Given the description of an element on the screen output the (x, y) to click on. 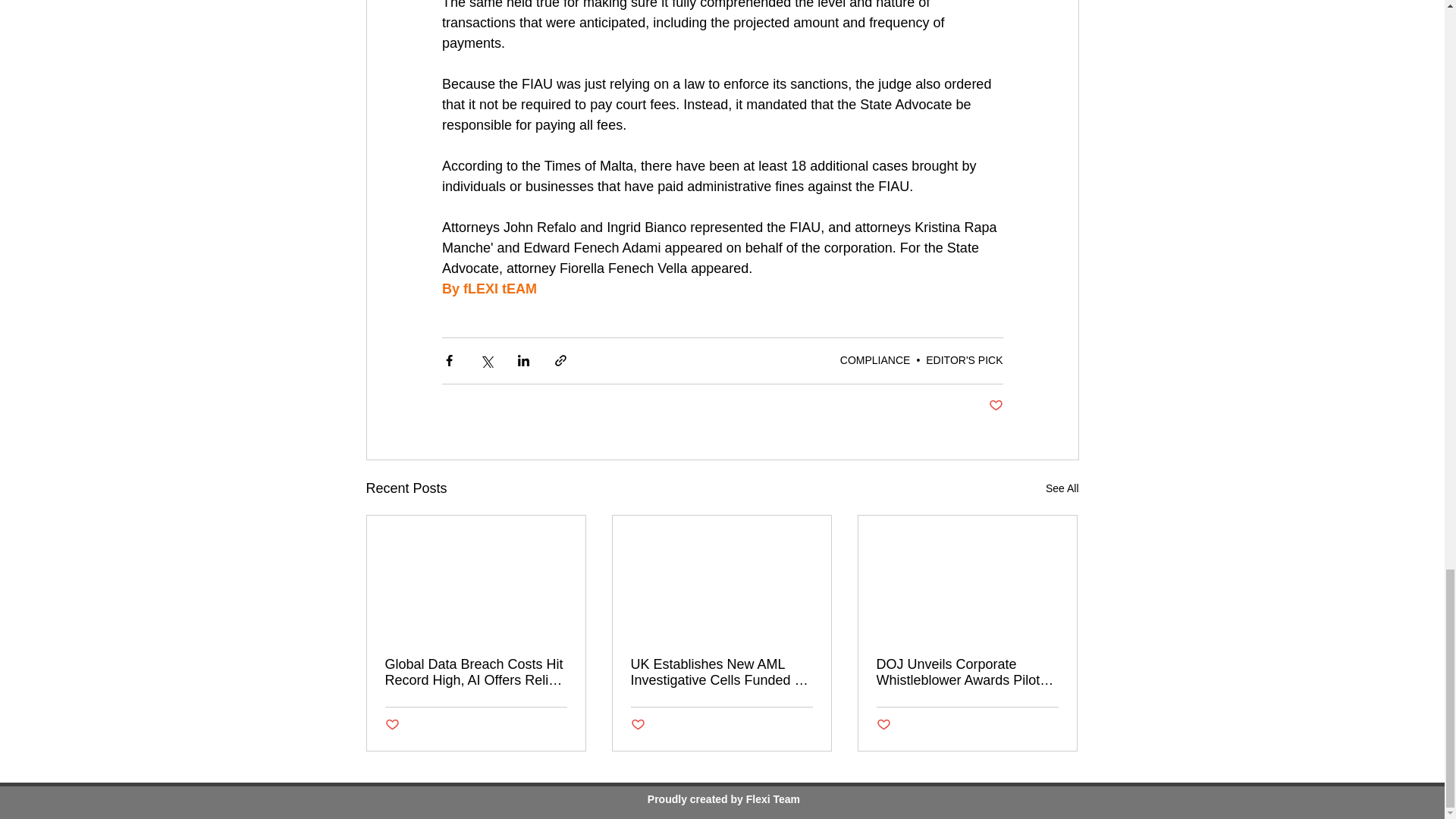
COMPLIANCE (875, 359)
Post not marked as liked (391, 725)
Post not marked as liked (637, 725)
Post not marked as liked (995, 406)
Post not marked as liked (883, 725)
See All (1061, 488)
EDITOR'S PICK (964, 359)
